Given the description of an element on the screen output the (x, y) to click on. 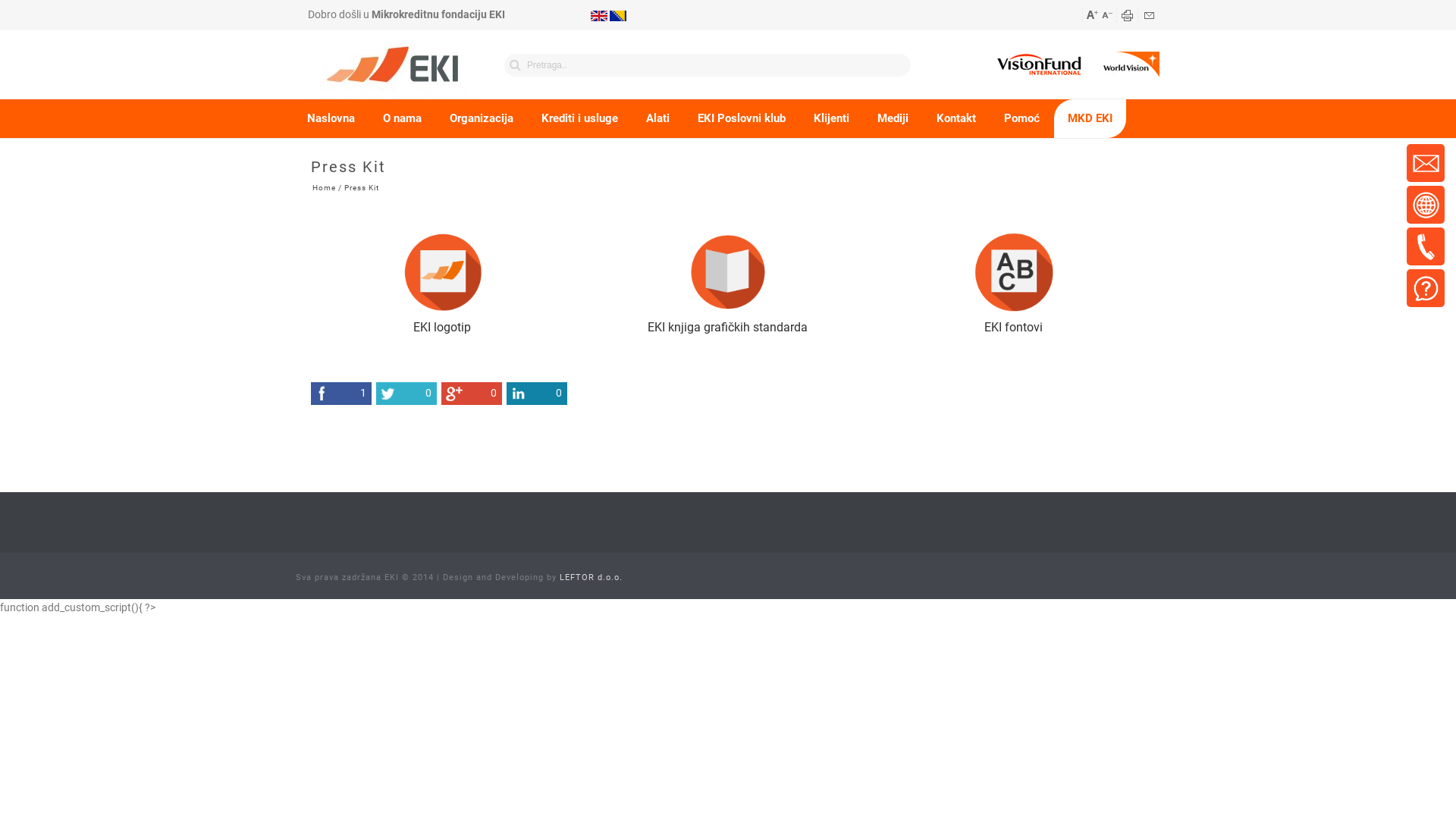
EKI logotip Element type: text (441, 327)
Klijenti Element type: text (831, 118)
Kontakt Element type: text (955, 118)
O nama Element type: text (402, 118)
EKI fontovi Element type: text (1013, 327)
LEFTOR d.o.o. Element type: text (590, 577)
EKI fontovi Element type: hover (1013, 271)
Alati Element type: text (657, 118)
EKI Poslovni klub Element type: text (741, 118)
Mediji Element type: text (892, 118)
Krediti i usluge Element type: text (579, 118)
MKD EKI Element type: text (1090, 118)
1 Element type: text (340, 393)
EKI Logotip Element type: hover (442, 271)
Naslovna Element type: text (330, 118)
0 Element type: text (536, 393)
0 Element type: text (406, 393)
Home Element type: text (323, 187)
0 Element type: text (471, 393)
Organizacija Element type: text (481, 118)
